Given the description of an element on the screen output the (x, y) to click on. 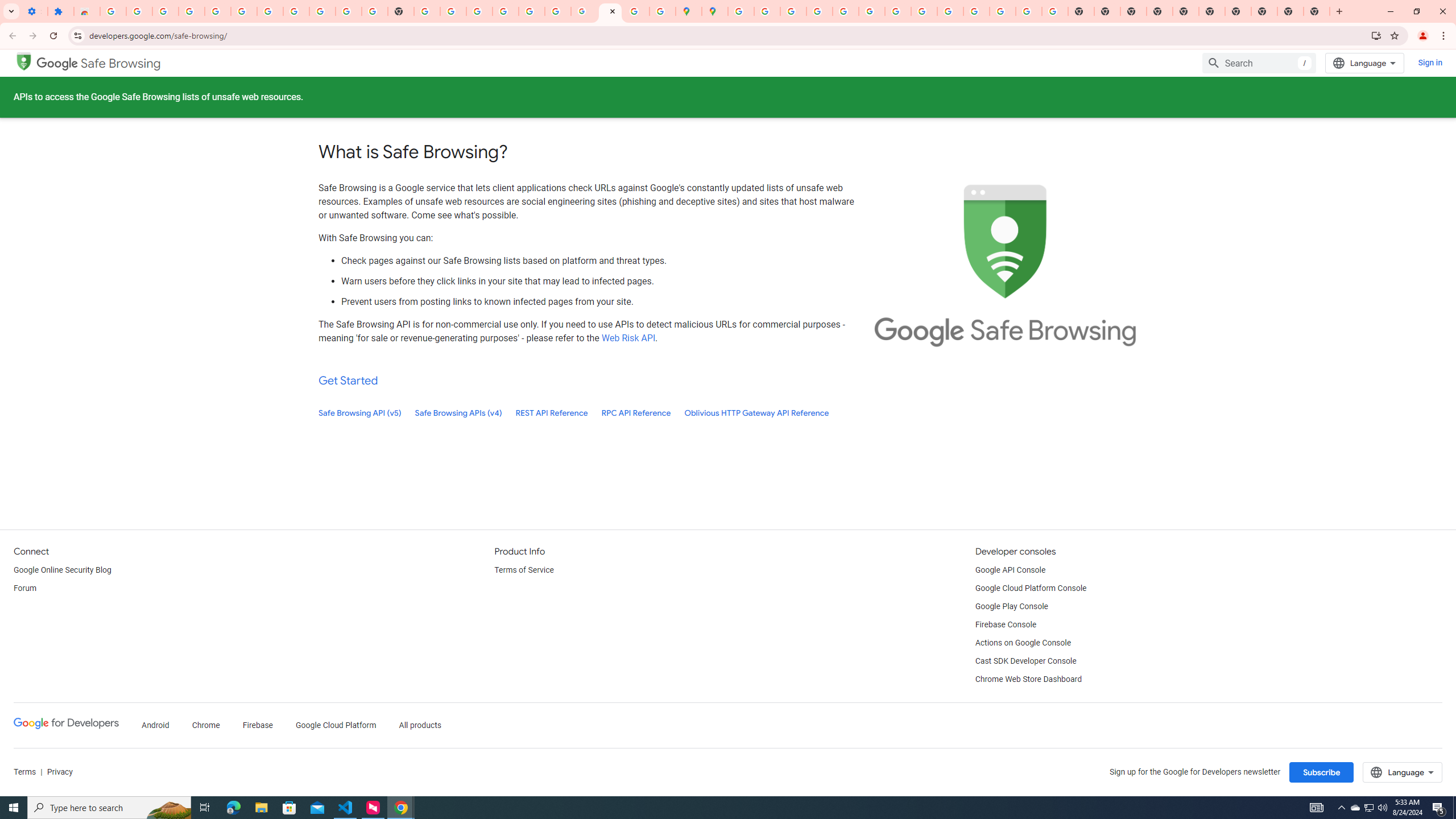
Reviews: Helix Fruit Jump Arcade Game (86, 11)
Privacy Help Center - Policies Help (792, 11)
Firebase (257, 725)
YouTube (348, 11)
Get Started (348, 380)
Google (57, 63)
Safe Browsing APIs (v4) (458, 412)
Learn how to find your photos - Google Photos Help (217, 11)
